Given the description of an element on the screen output the (x, y) to click on. 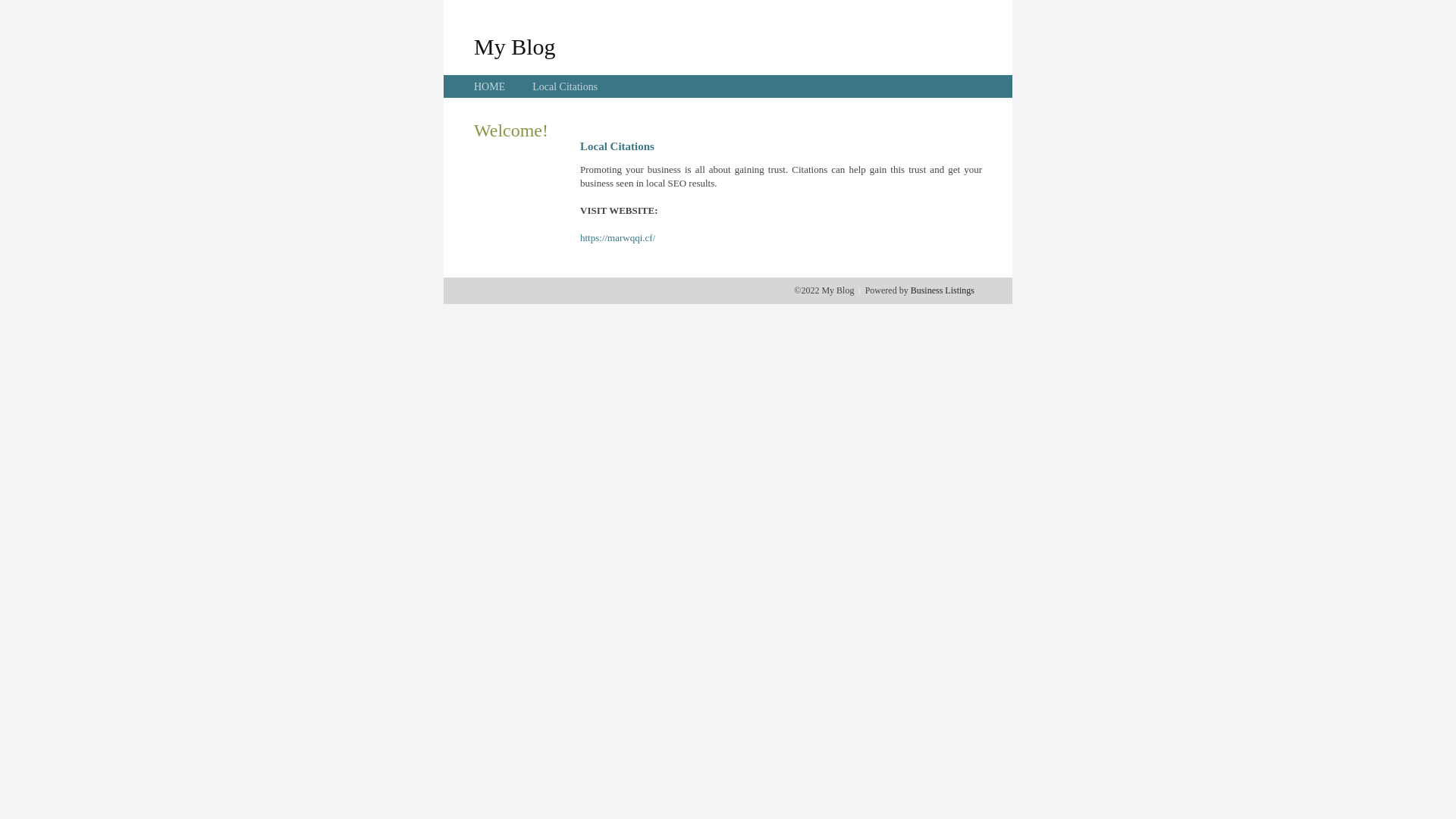
Business Listings Element type: text (942, 290)
My Blog Element type: text (514, 46)
https://marwqqi.cf/ Element type: text (617, 237)
Local Citations Element type: text (564, 86)
HOME Element type: text (489, 86)
